Given the description of an element on the screen output the (x, y) to click on. 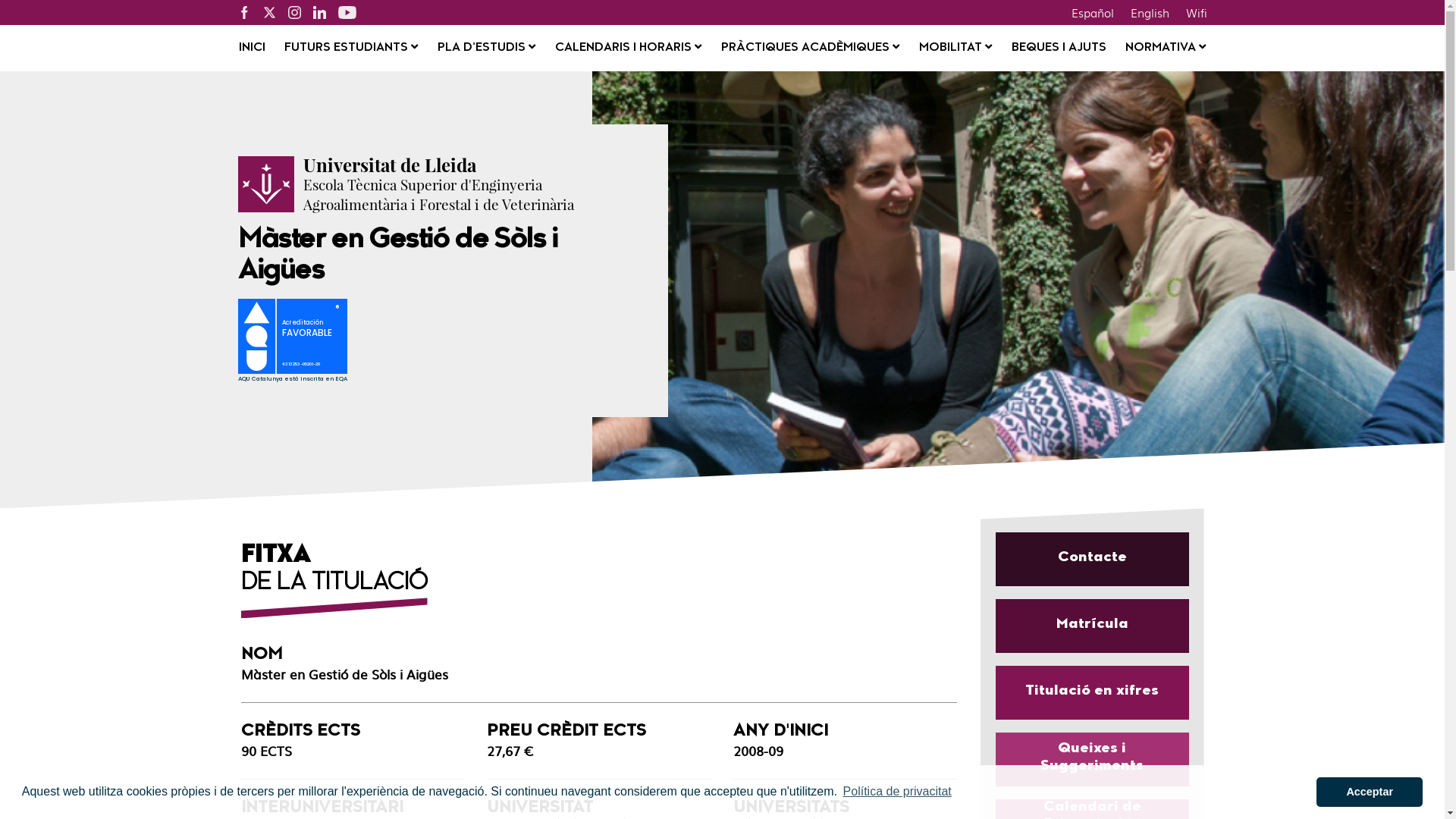
INICI Element type: text (251, 48)
CALENDARIS I HORARIS Element type: text (628, 48)
English Element type: text (1149, 12)
SegellAcreditacioAQU_MGSAigues_es Element type: hover (300, 342)
FUTURS ESTUDIANTS Element type: text (350, 48)
MOBILITAT Element type: text (955, 48)
BEQUES I AJUTS Element type: text (1058, 48)
NORMATIVA Element type: text (1165, 48)
Acceptar Element type: text (1369, 791)
Wifi Element type: text (1195, 12)
